Given the description of an element on the screen output the (x, y) to click on. 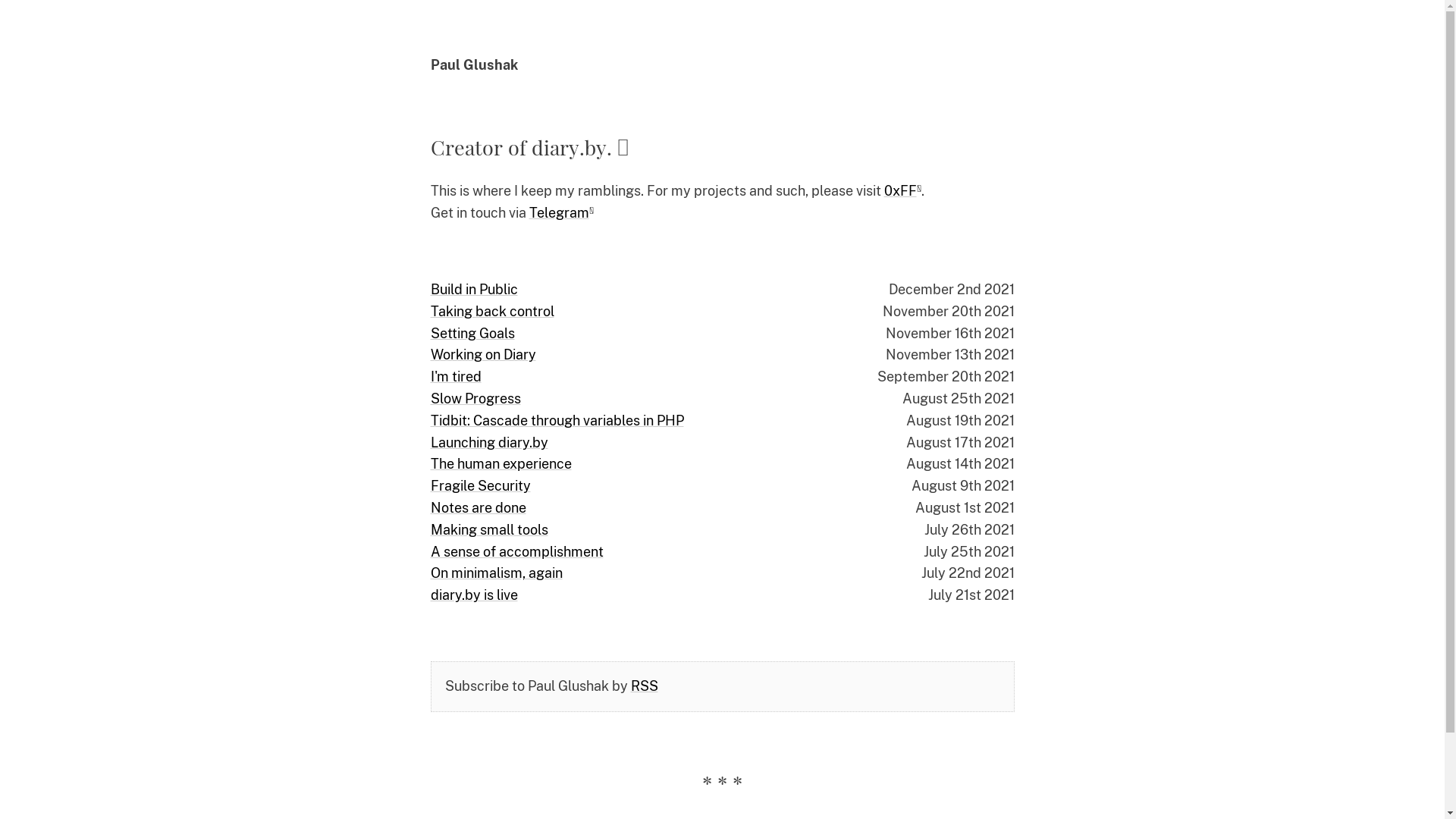
Taking back control Element type: text (492, 312)
Launching diary.by Element type: text (489, 443)
Working on Diary Element type: text (483, 355)
Notes are done Element type: text (478, 508)
Telegram Element type: text (561, 212)
RSS Element type: text (644, 685)
I'm tired Element type: text (455, 377)
Setting Goals Element type: text (472, 334)
Making small tools Element type: text (489, 530)
Build in Public Element type: text (473, 290)
On minimalism, again Element type: text (496, 573)
Slow Progress Element type: text (475, 399)
Fragile Security Element type: text (480, 486)
diary.by is live Element type: text (473, 595)
0xFF Element type: text (902, 190)
The human experience Element type: text (500, 464)
A sense of accomplishment Element type: text (516, 552)
Tidbit: Cascade through variables in PHP Element type: text (557, 421)
